Given the description of an element on the screen output the (x, y) to click on. 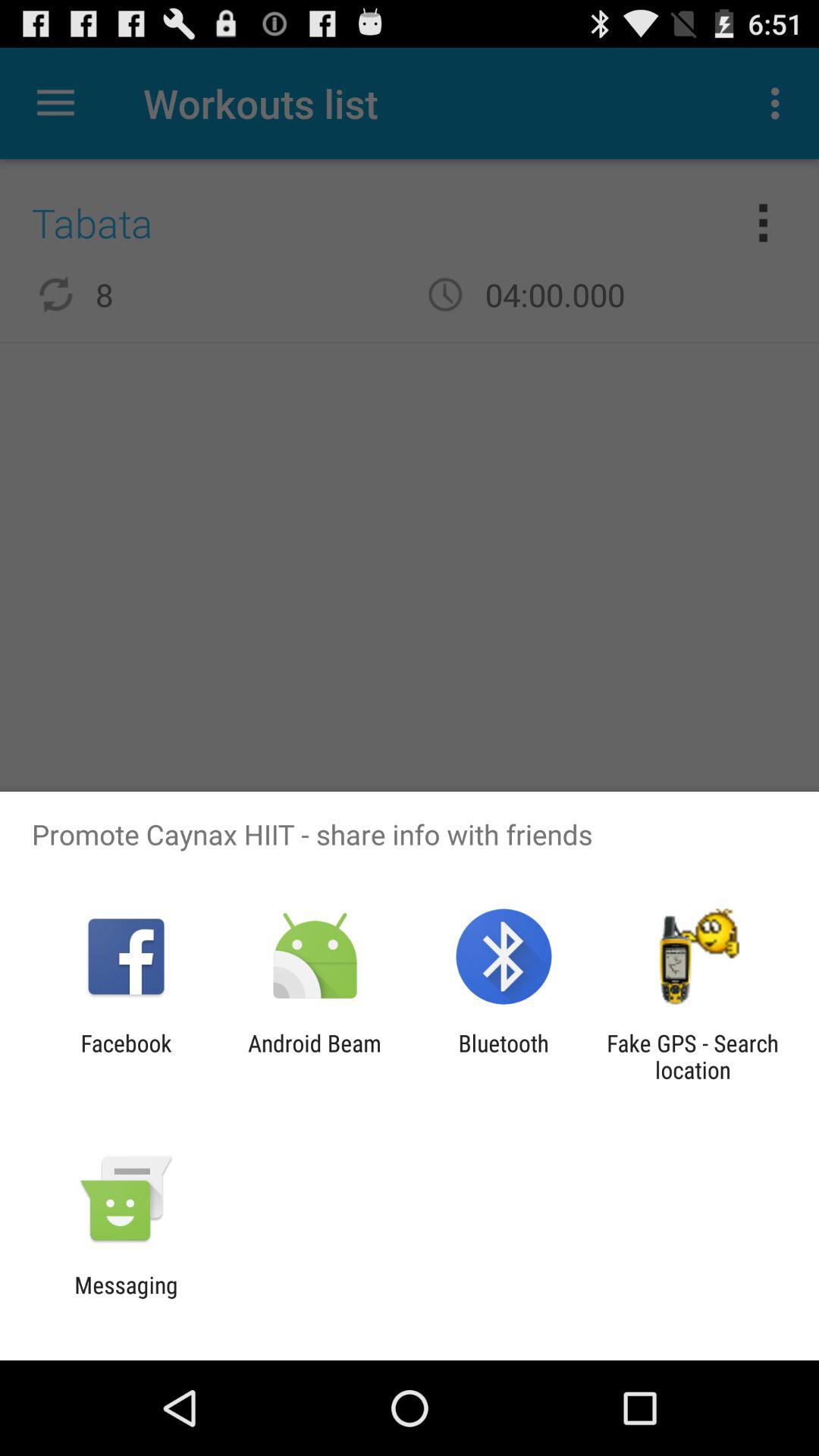
jump until messaging app (126, 1298)
